Given the description of an element on the screen output the (x, y) to click on. 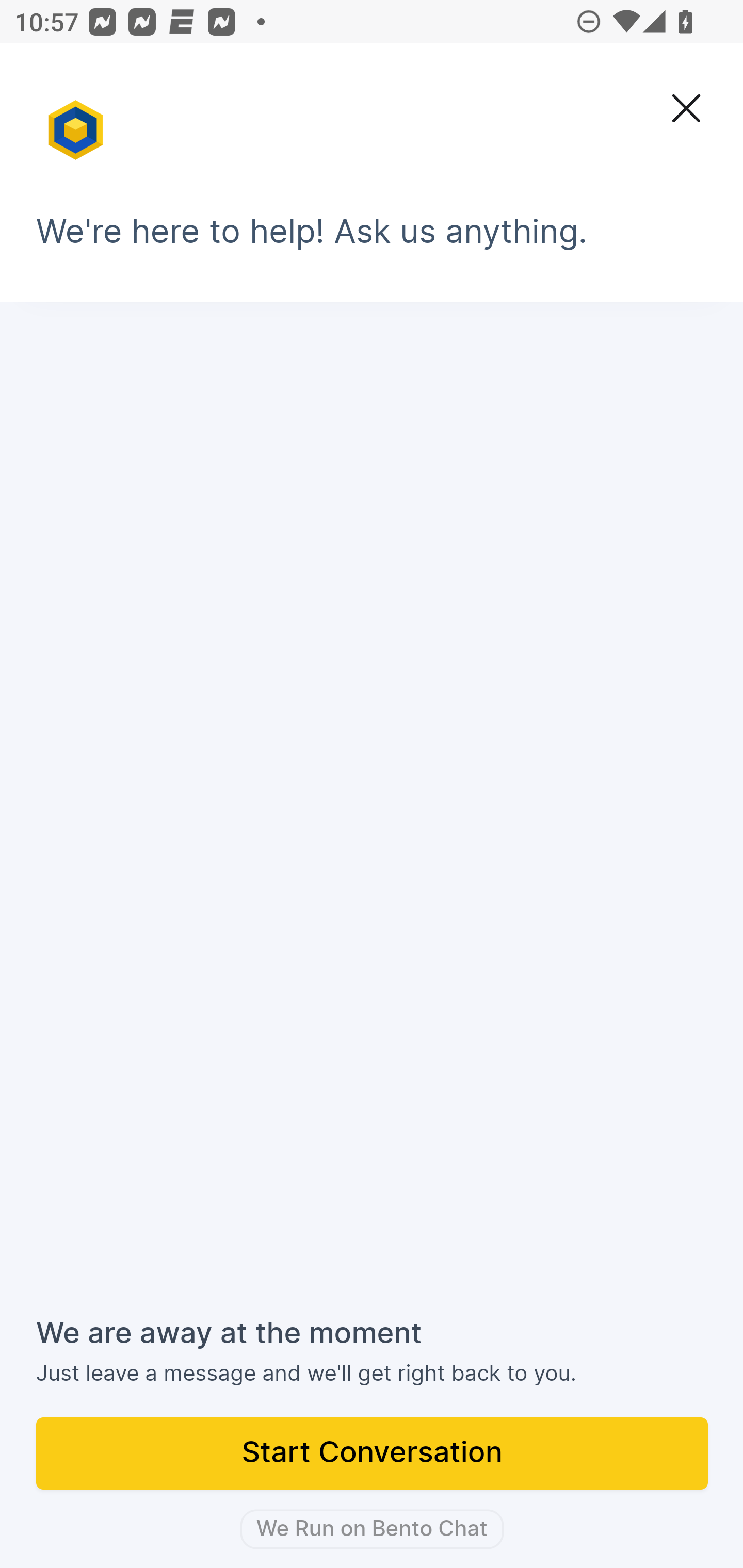
LUMI-ID-Avatar_Transparent-640w (77, 120)
Start Conversation (372, 1454)
We Run on Bento Chat (371, 1529)
